Given the description of an element on the screen output the (x, y) to click on. 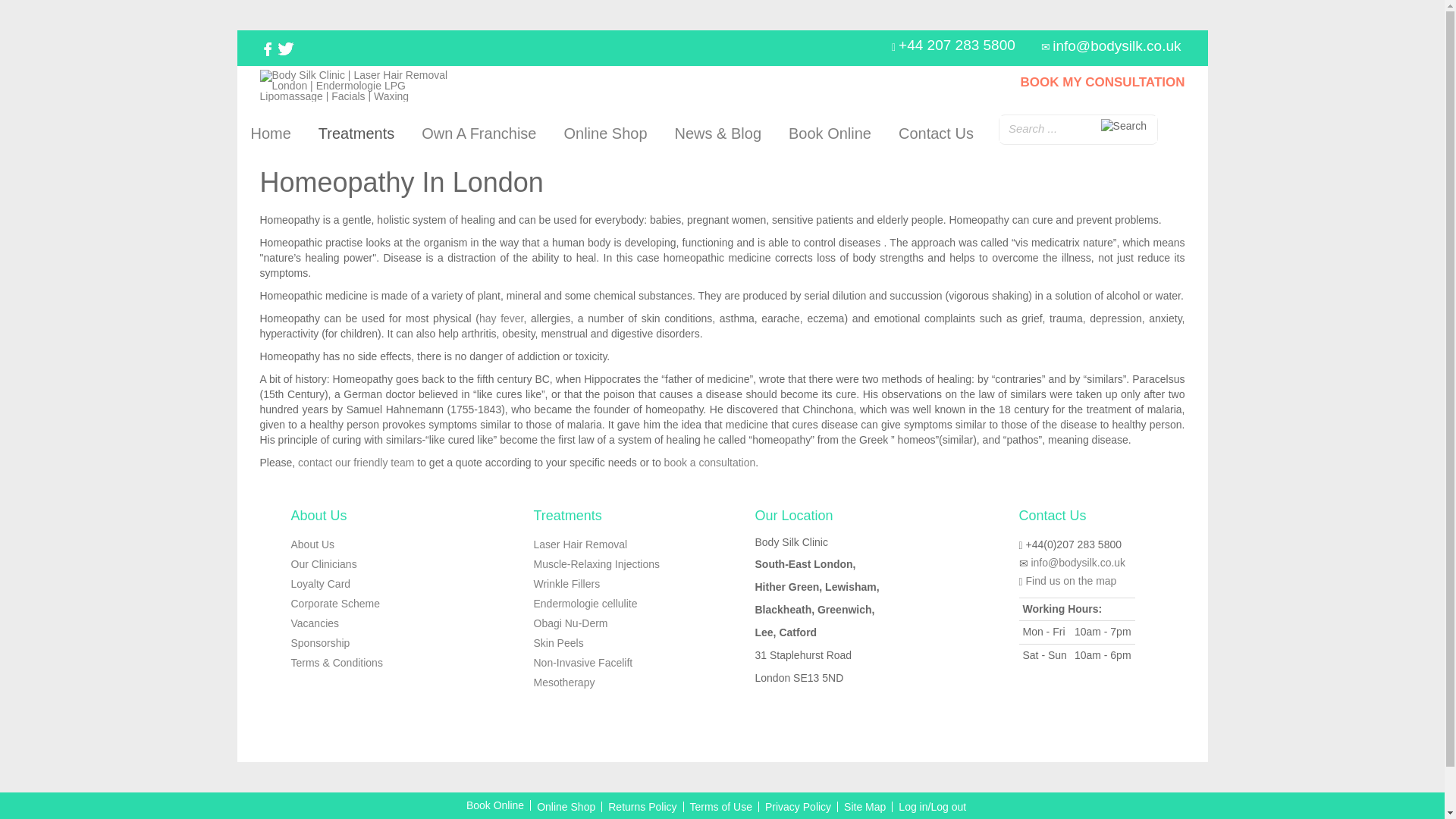
Treatments (355, 133)
Home (269, 133)
Search (1123, 126)
BOOK MY CONSULTATION (1102, 82)
Homeopathy Hay Fever (501, 318)
Book Homeopathy Consultation Online (709, 462)
Home page (269, 133)
Search ... (1077, 128)
Contact Body Silk Clinic (355, 462)
